Given the description of an element on the screen output the (x, y) to click on. 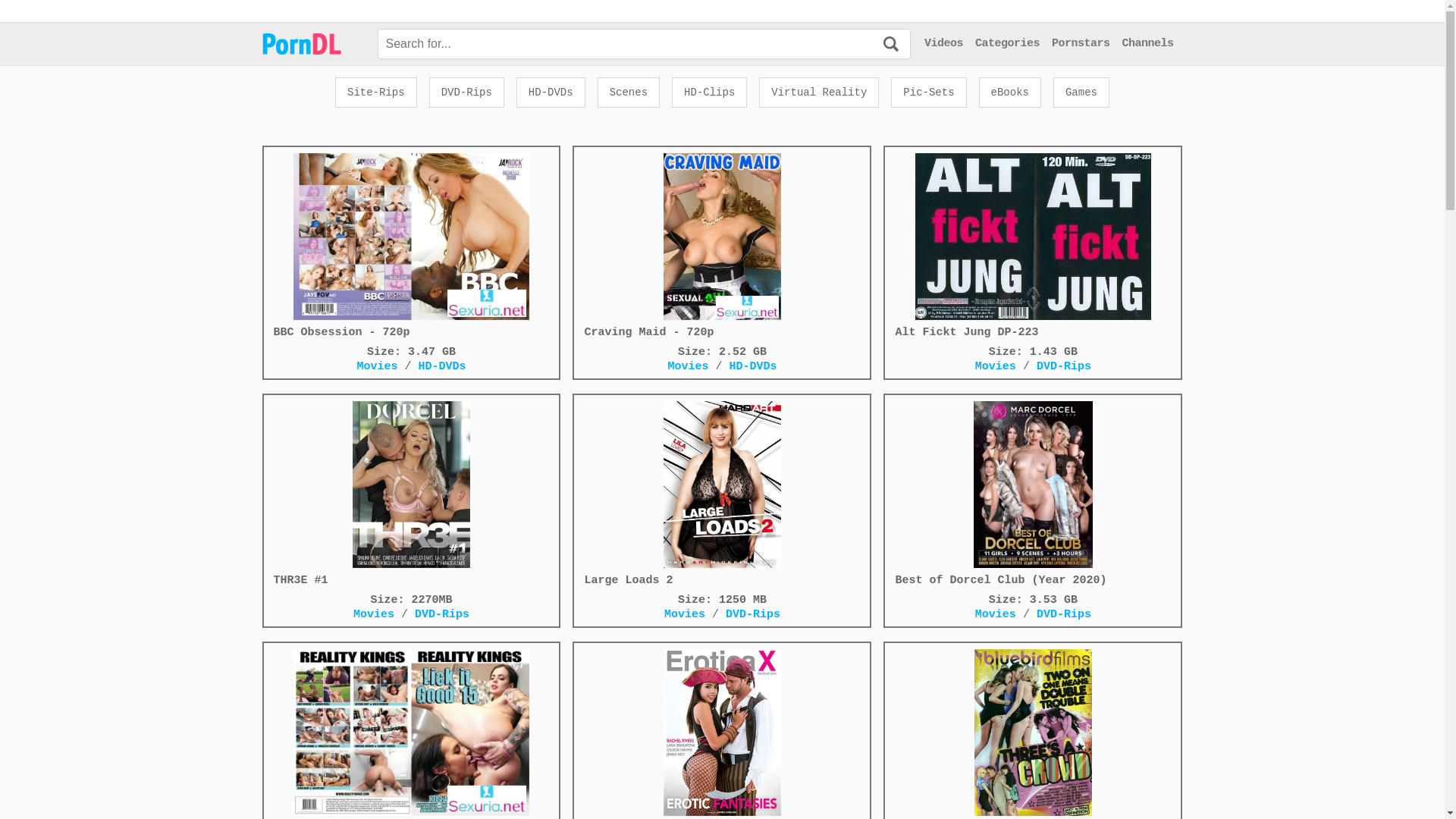
HD-DVDs Element type: text (752, 366)
Alt Fickt Jung DP-223 Element type: text (1032, 245)
HD-Clips Element type: text (708, 92)
Best of Dorcel Club (Year 2020) Element type: text (1032, 493)
Craving Maid - 720p Element type: text (721, 245)
Pic-Sets Element type: text (928, 92)
Scenes Element type: text (628, 92)
DVD-Rips Element type: text (441, 614)
eBooks Element type: text (1010, 92)
HD Porn Videos Element type: hover (309, 43)
Movies Element type: text (688, 614)
DVD-Rips Element type: text (1063, 614)
Movies Element type: text (998, 614)
Categories Element type: text (1007, 43)
Movies Element type: text (377, 614)
Movies Element type: text (998, 366)
Search Element type: hover (890, 44)
Movies Element type: text (380, 366)
HD-DVDs Element type: text (550, 92)
DVD-Rips Element type: text (752, 614)
Movies Element type: text (691, 366)
DVD-Rips Element type: text (1063, 366)
Large Loads 2 Element type: text (721, 493)
Virtual Reality Element type: text (818, 92)
Channels Element type: text (1147, 43)
Site-Rips Element type: text (376, 92)
HD-DVDs Element type: text (441, 366)
Games Element type: text (1081, 92)
Pornstars Element type: text (1080, 43)
Videos Element type: text (943, 43)
THR3E #1 Element type: text (411, 493)
BBC Obsession - 720p Element type: text (411, 245)
DVD-Rips Element type: text (466, 92)
